Given the description of an element on the screen output the (x, y) to click on. 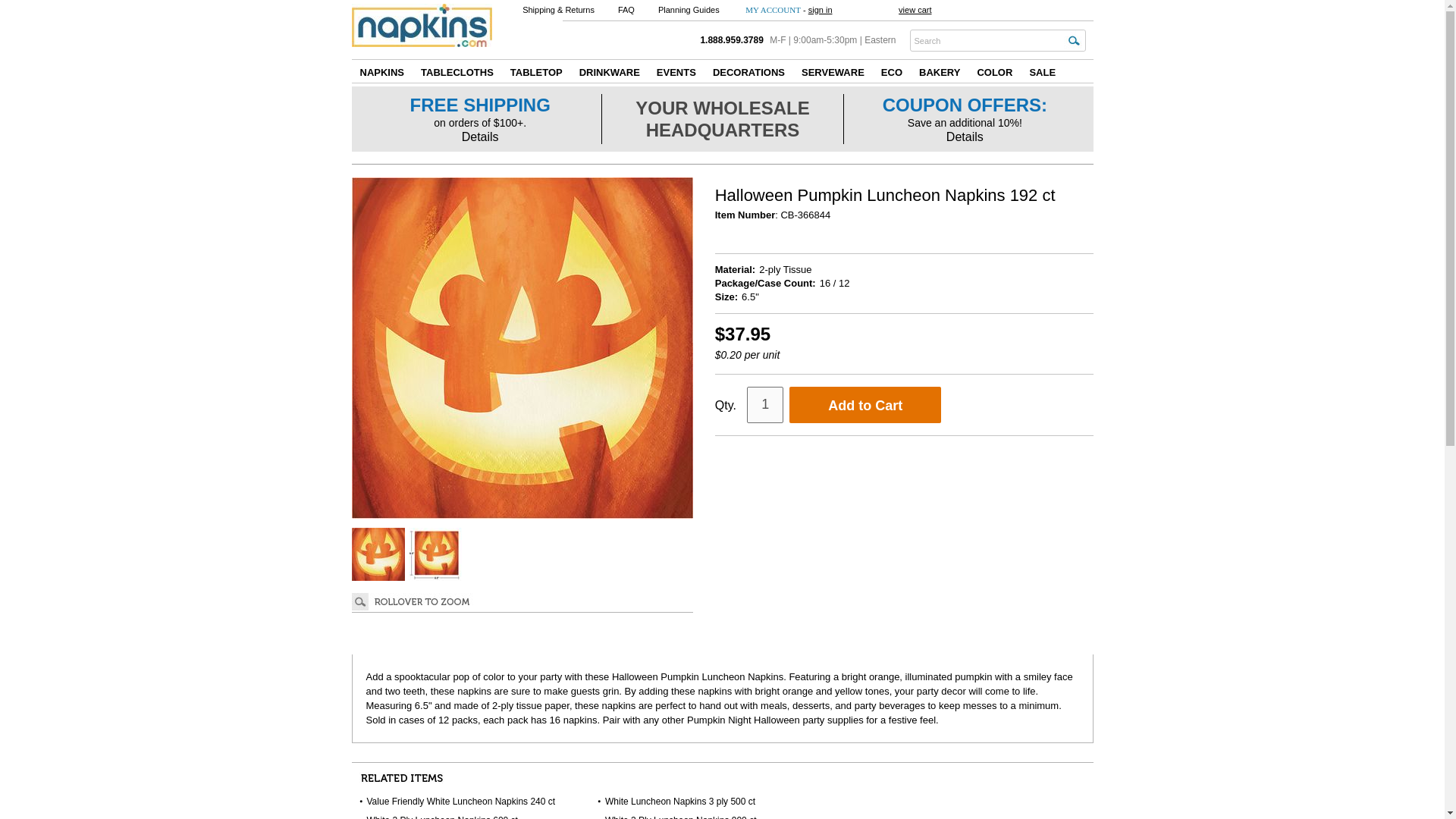
Go (1072, 40)
Planning Guides (688, 9)
Details (964, 136)
FAQ (625, 9)
1 (764, 404)
Details (480, 136)
Add to Cart (864, 404)
MY ACCOUNT (772, 9)
view cart (914, 9)
Search (986, 39)
Search (986, 39)
sign in (820, 9)
NAPKINS (382, 71)
Go (1072, 40)
